Given the description of an element on the screen output the (x, y) to click on. 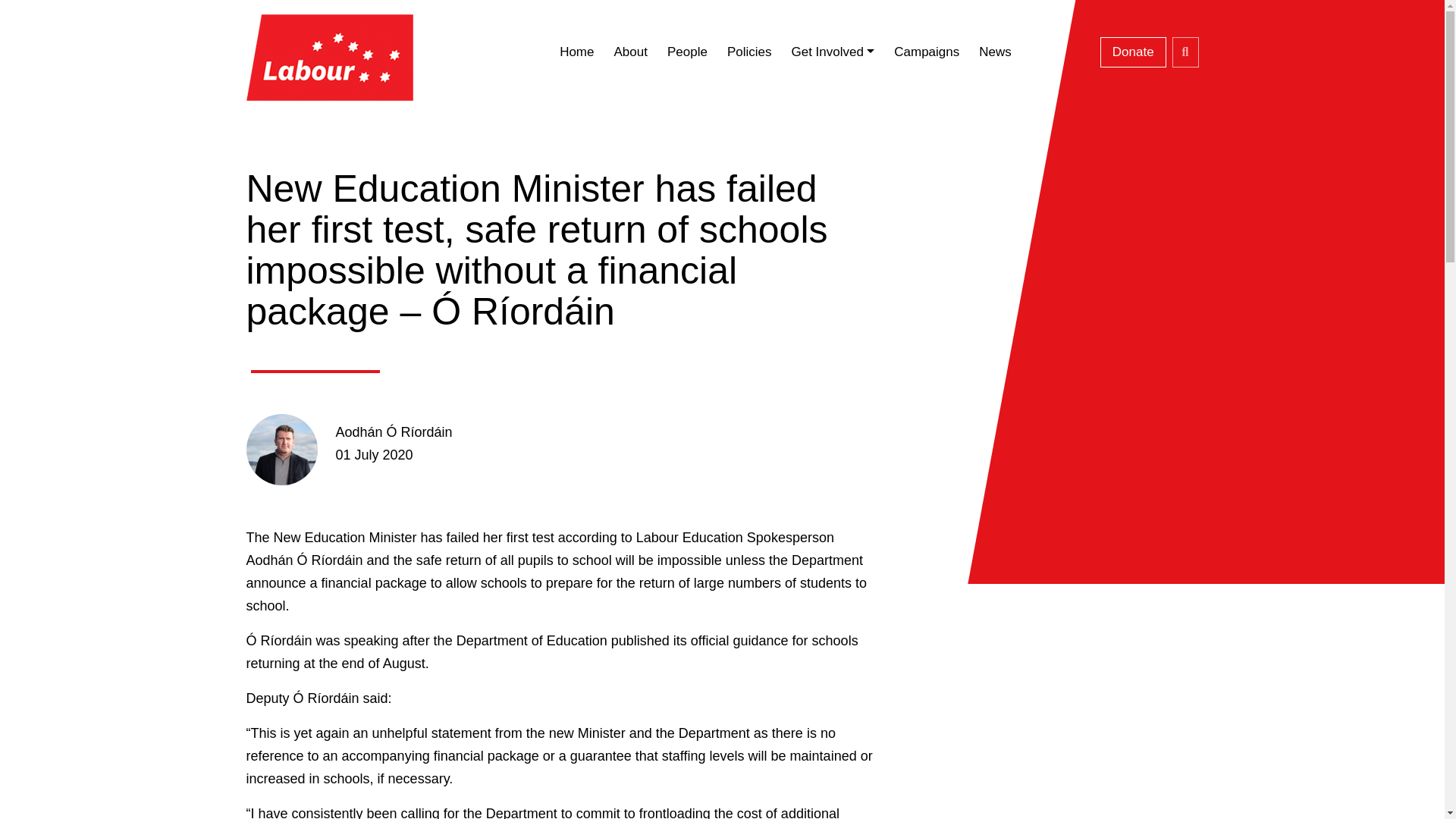
News (995, 51)
Donate (1133, 51)
Get Involved (831, 51)
Policies (749, 51)
People (687, 51)
About (630, 51)
Campaigns (926, 51)
Home (577, 51)
